Given the description of an element on the screen output the (x, y) to click on. 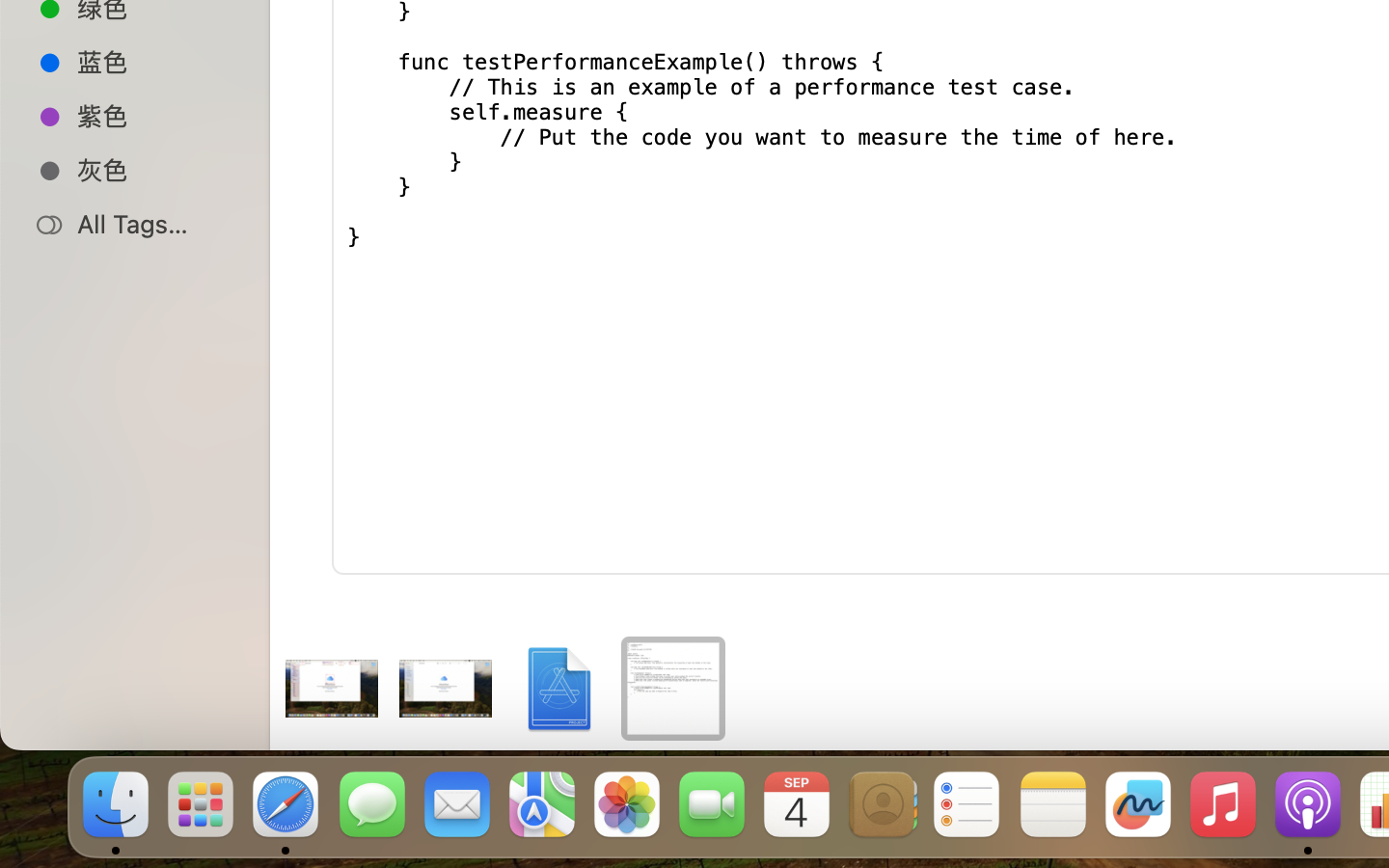
紫色 Element type: AXStaticText (155, 115)
蓝色 Element type: AXStaticText (155, 61)
灰色 Element type: AXStaticText (155, 169)
All Tags… Element type: AXStaticText (155, 223)
